Given the description of an element on the screen output the (x, y) to click on. 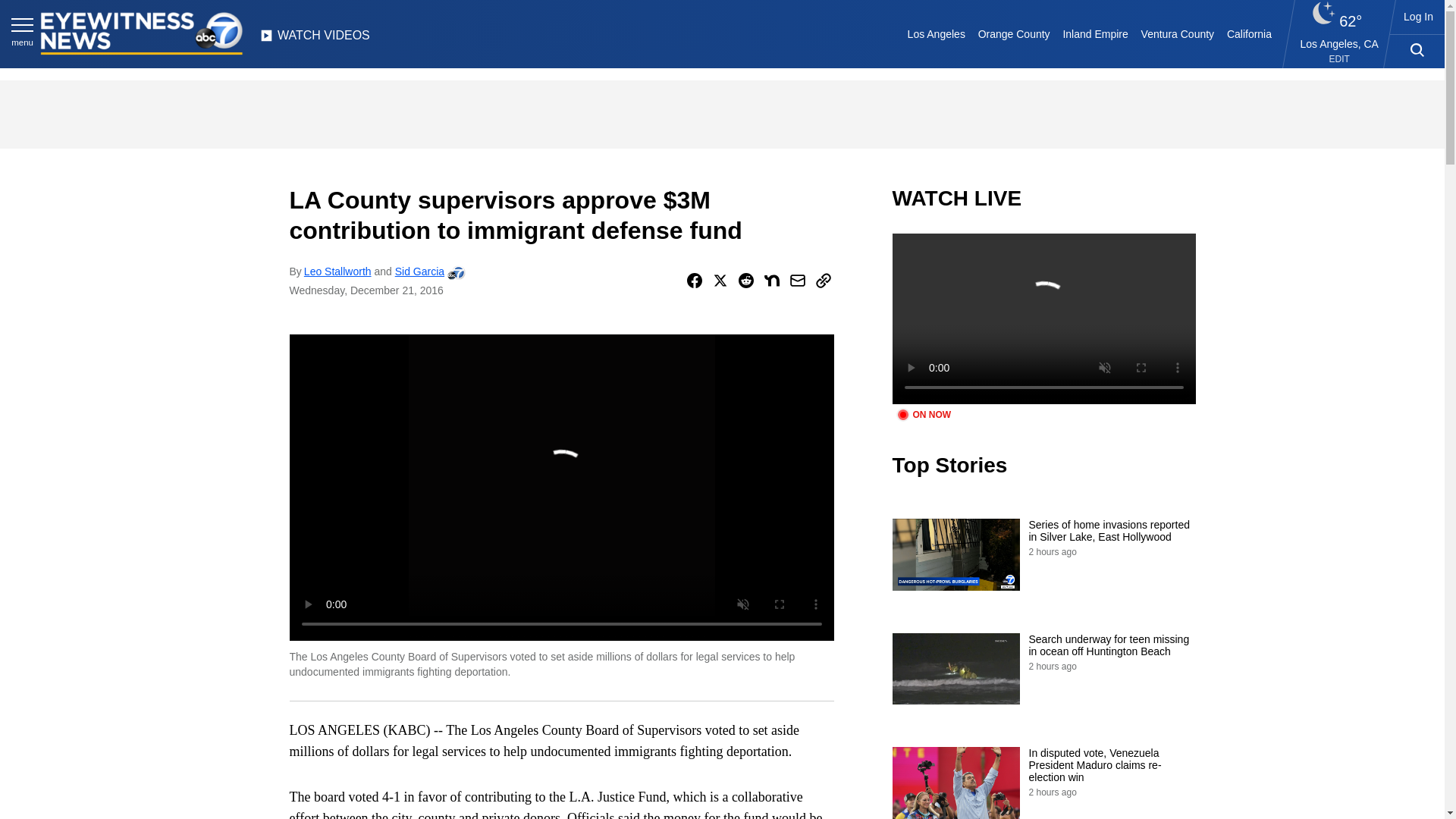
video.title (1043, 318)
Orange County (1014, 33)
Los Angeles (936, 33)
WATCH VIDEOS (314, 39)
California (1249, 33)
EDIT (1339, 59)
Ventura County (1177, 33)
Los Angeles, CA (1339, 43)
Inland Empire (1095, 33)
